Given the description of an element on the screen output the (x, y) to click on. 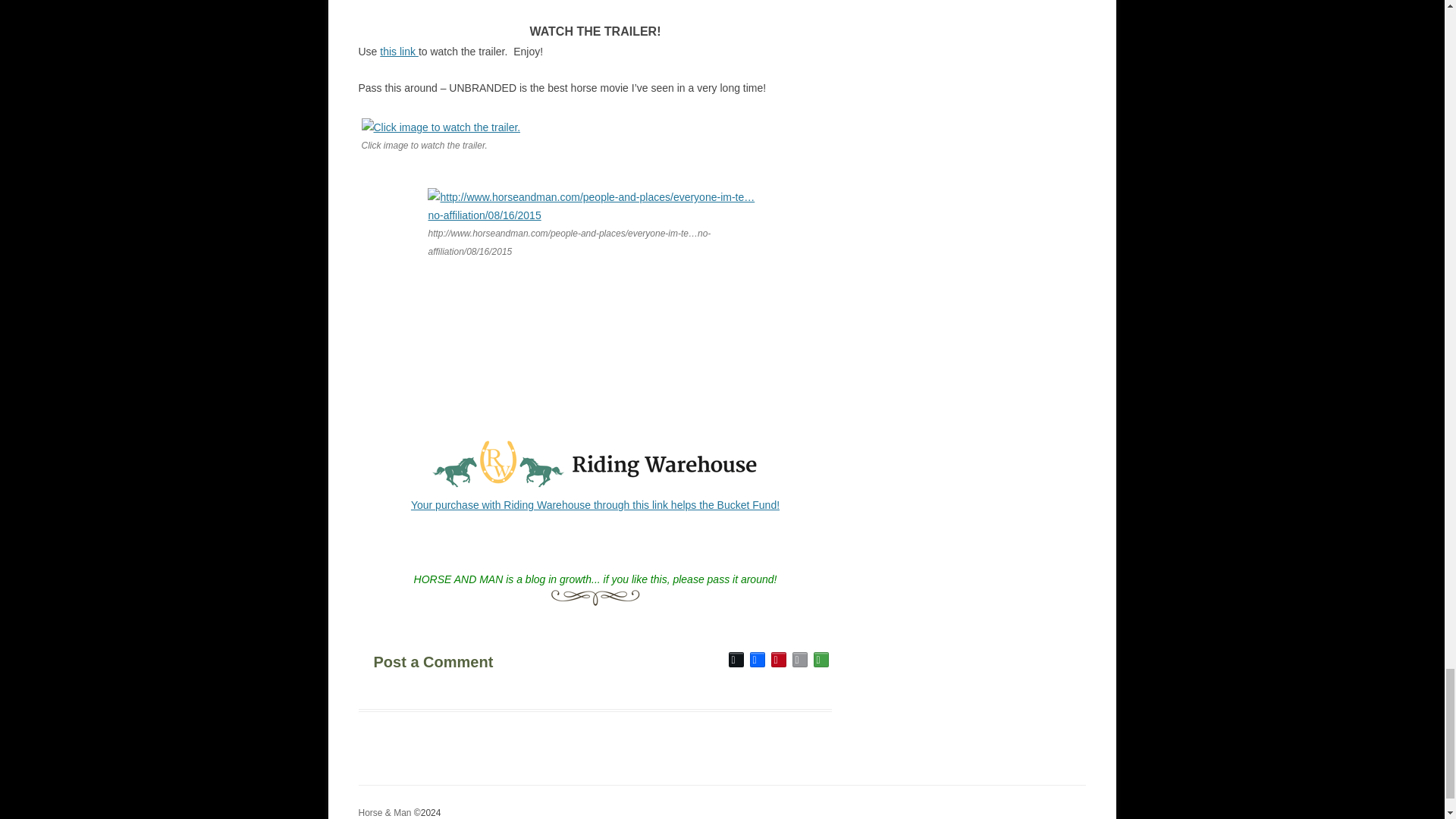
this link (399, 51)
Email This (799, 659)
Help The Bucket Fund with your purchase! (594, 486)
Facebook (757, 659)
Help The Bucket Fund with your purchase! (594, 504)
Pinterest (778, 659)
